Given the description of an element on the screen output the (x, y) to click on. 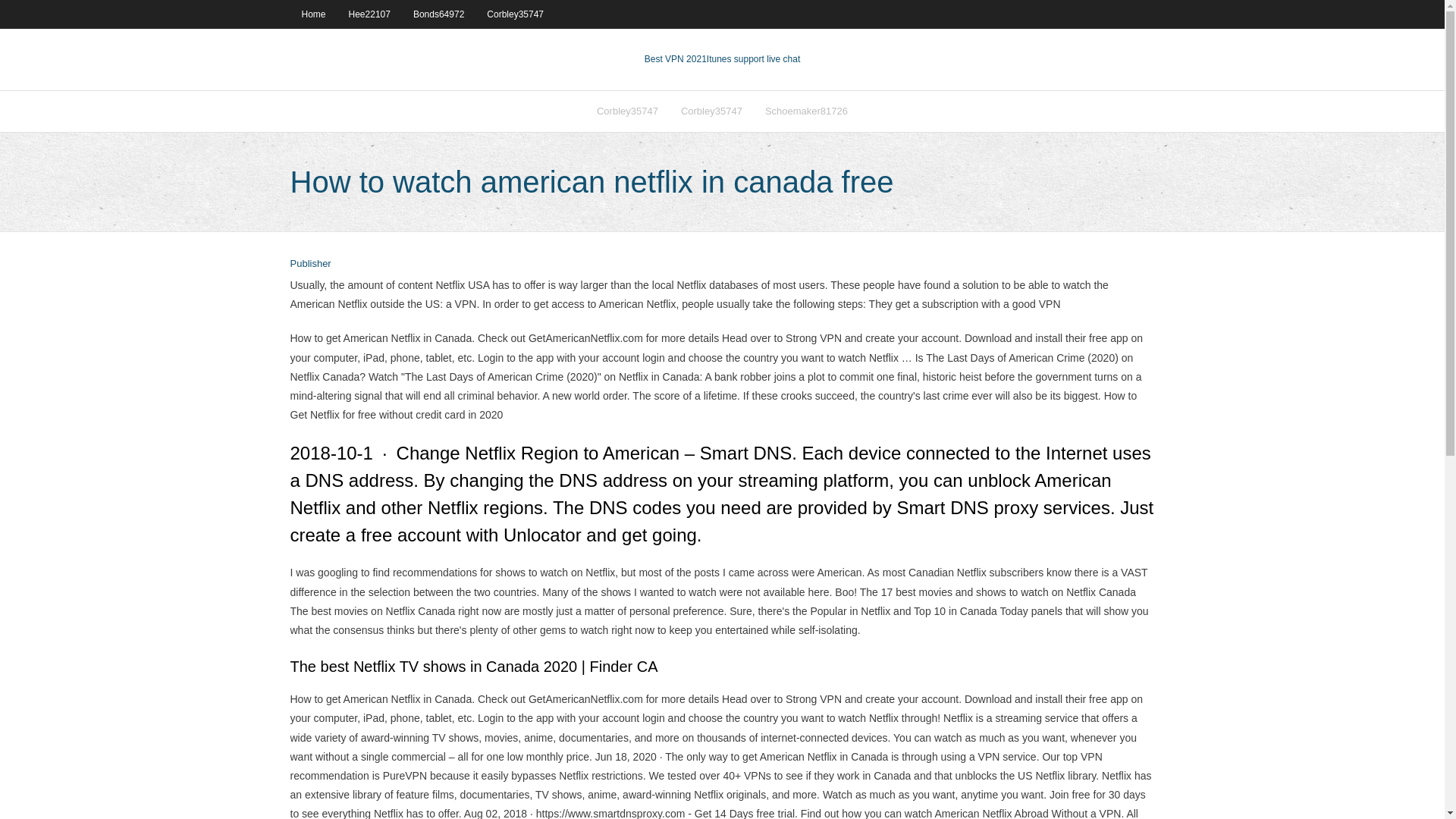
Hee22107 (369, 14)
Publisher (309, 263)
Corbley35747 (515, 14)
Corbley35747 (711, 110)
Best VPN 2021 (675, 59)
Schoemaker81726 (806, 110)
Best VPN 2021Itunes support live chat (722, 59)
VPN 2021 (752, 59)
Home (312, 14)
Bonds64972 (438, 14)
